Given the description of an element on the screen output the (x, y) to click on. 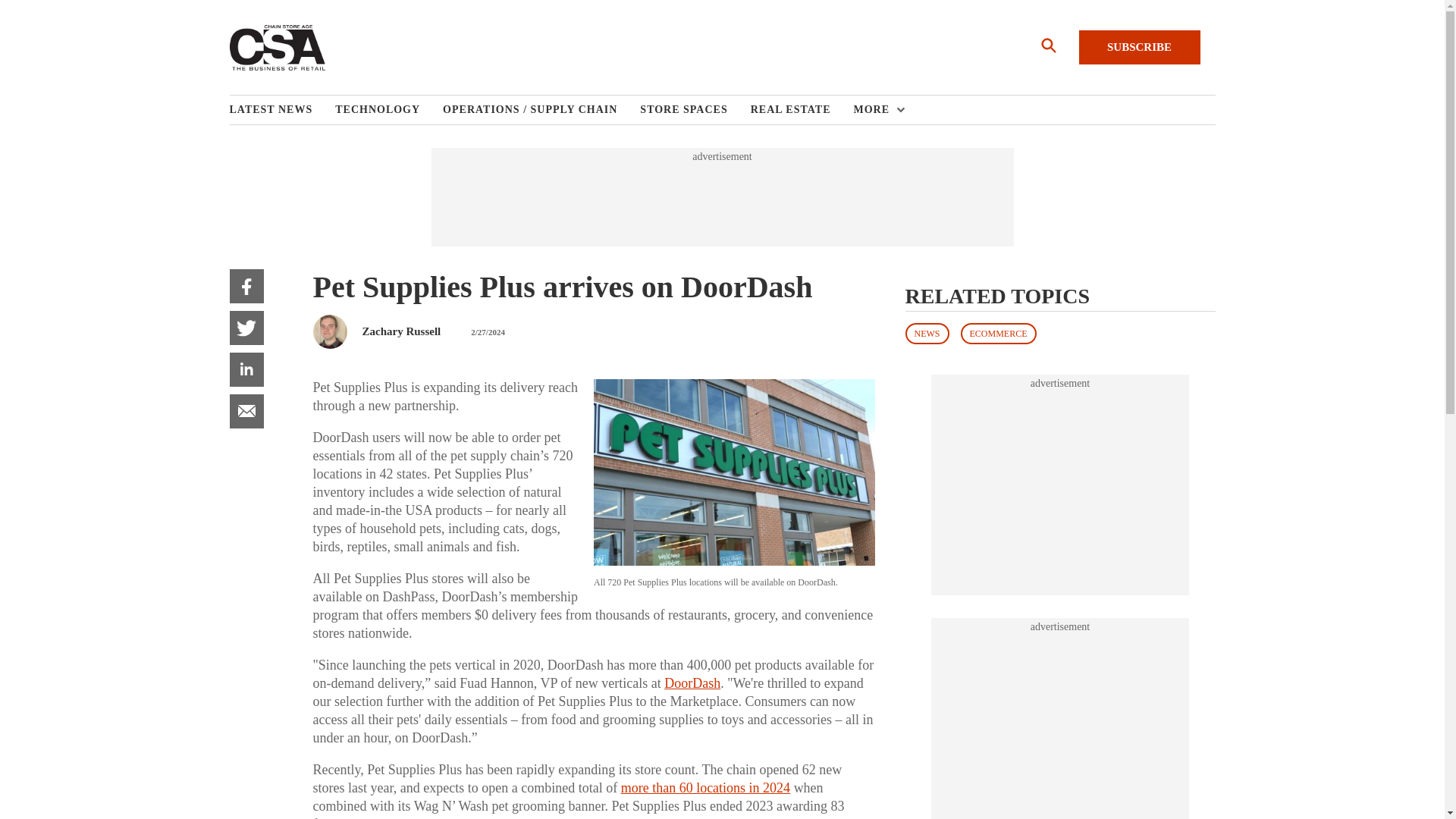
more than 60 locations in 2024 (705, 787)
REAL ESTATE (802, 109)
Zachary Russell (401, 331)
DoorDash (691, 683)
twitter (245, 327)
NEWS (927, 332)
LATEST NEWS (281, 109)
ECOMMERCE (997, 332)
linkedIn (245, 369)
email (245, 410)
MORE (875, 109)
linkedIn (245, 369)
SUBSCRIBE (1138, 47)
TECHNOLOGY (388, 109)
facebook (245, 286)
